Given the description of an element on the screen output the (x, y) to click on. 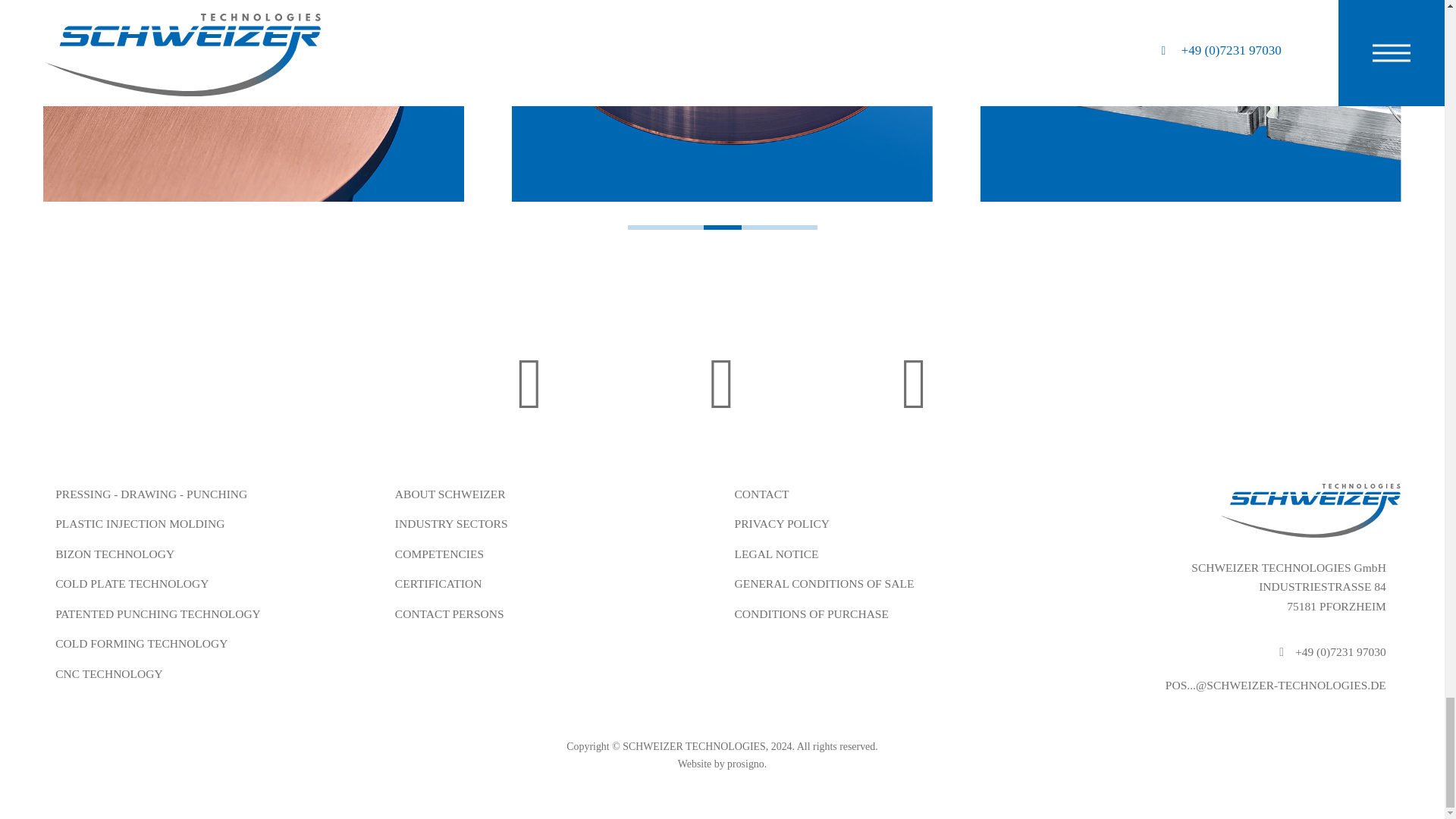
PATENTED PUNCHING (253, 107)
TOOL MAKING (1189, 107)
Patented punching (253, 100)
COLD FORMING (722, 107)
Cold forming (722, 100)
Cold forming (722, 107)
Patented punching (253, 107)
Tool making (1189, 100)
Tool making (1189, 107)
